Given the description of an element on the screen output the (x, y) to click on. 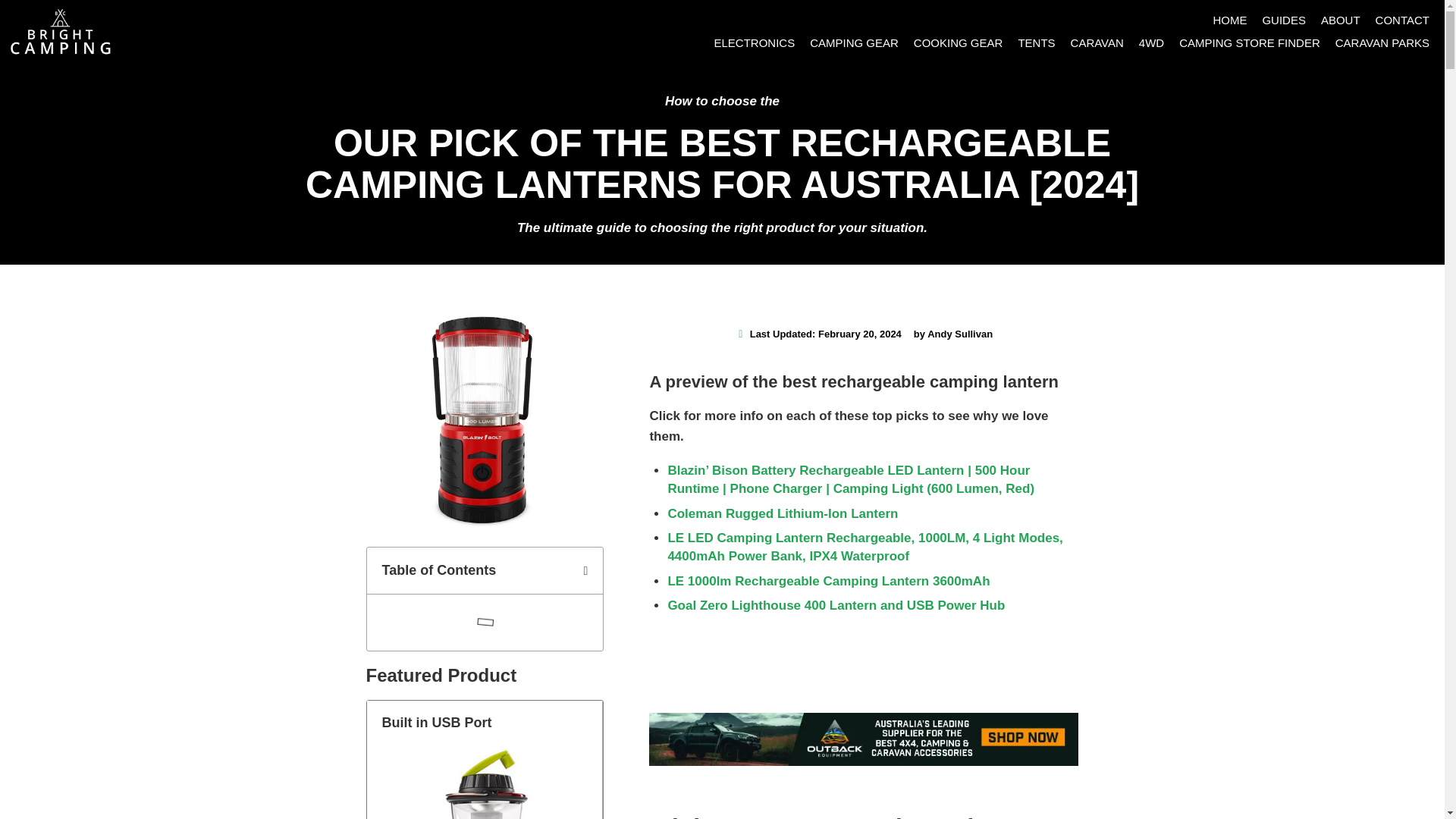
CAMPING GEAR (853, 42)
ELECTRONICS (754, 42)
ABOUT (1340, 20)
HOME (1229, 20)
COOKING GEAR (957, 42)
CONTACT (1402, 20)
GUIDES (1283, 20)
